Given the description of an element on the screen output the (x, y) to click on. 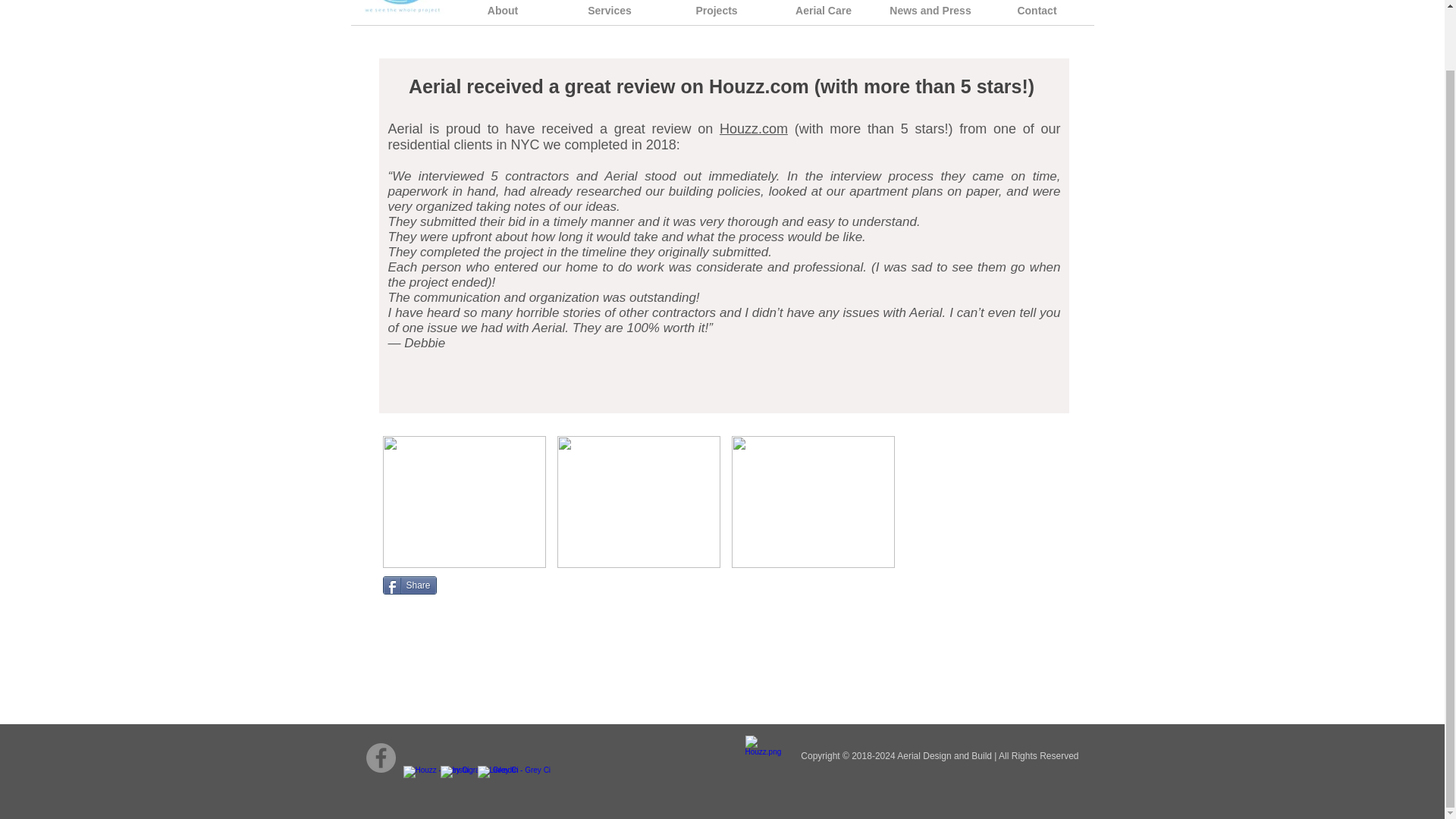
Projects (716, 16)
Share (408, 585)
News and Press (930, 16)
Houzz.com (753, 128)
Aerial Care (823, 16)
Share (408, 585)
About (502, 16)
Contact (1037, 16)
Services (609, 16)
